Given the description of an element on the screen output the (x, y) to click on. 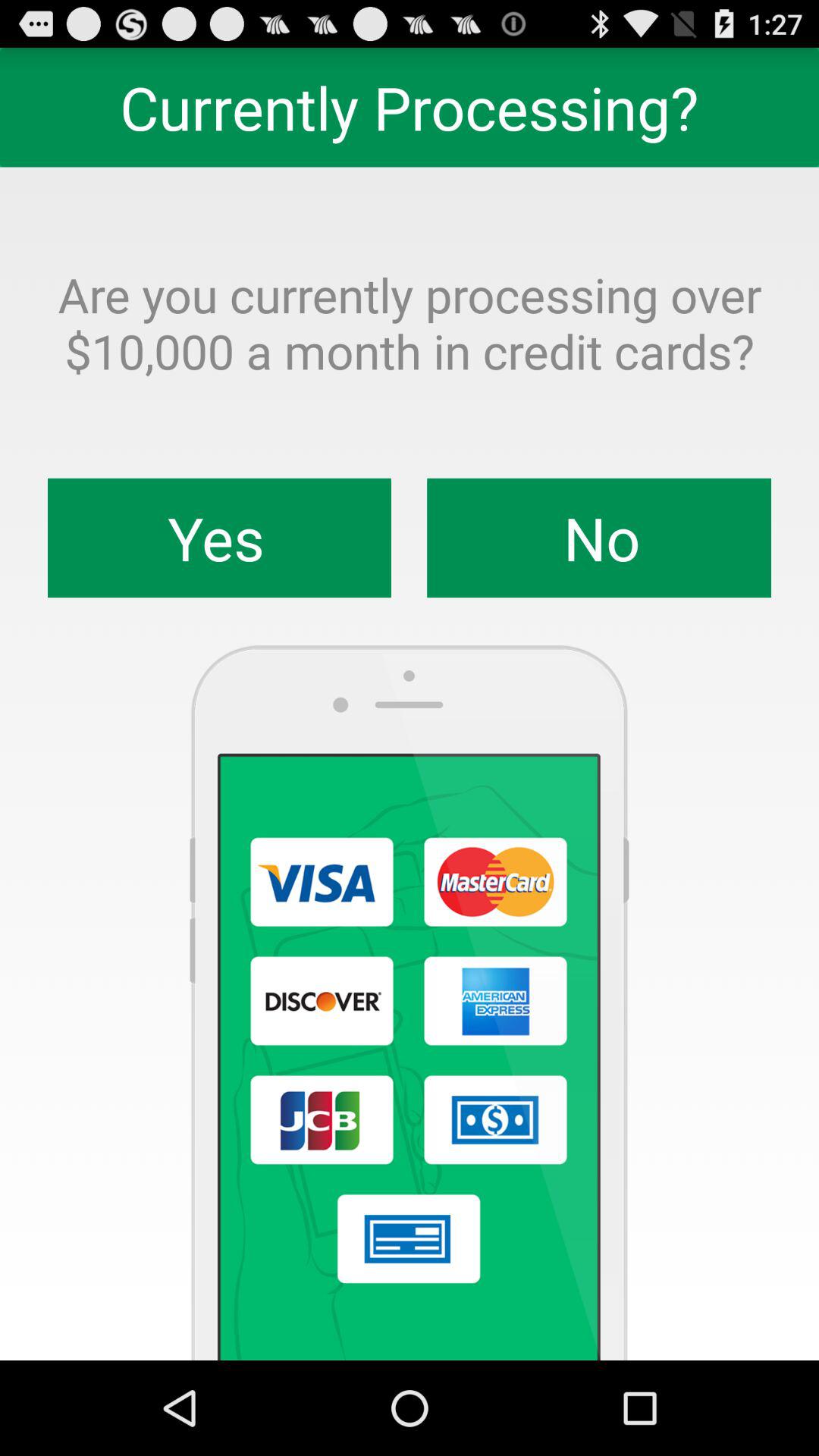
open item below are you currently app (219, 537)
